Given the description of an element on the screen output the (x, y) to click on. 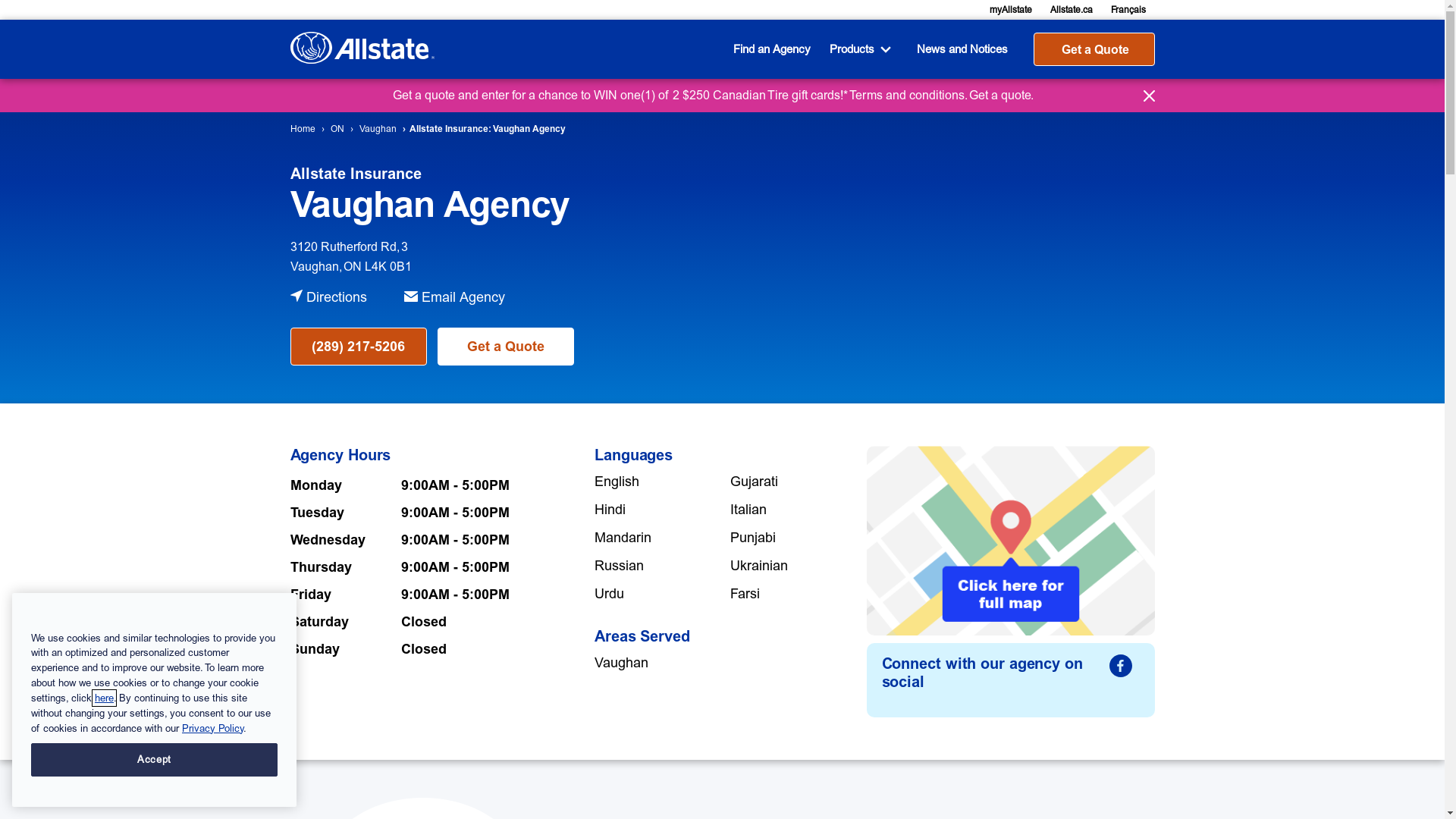
Privacy Policy Element type: text (212, 727)
News and Notices Element type: text (965, 49)
Home Element type: text (301, 128)
Find an Agency Element type: text (774, 49)
Email Agency Element type: text (470, 297)
Get a Quote Element type: text (504, 346)
Directions Element type: text (346, 297)
Accept Element type: text (154, 759)
Vaughan Element type: text (377, 128)
Allstate.ca Element type: text (1070, 9)
Terms and conditions. Element type: text (907, 94)
myAllstate Element type: text (1009, 9)
(289) 217-5206 Element type: text (357, 346)
Get a quote. Element type: text (999, 94)
here Element type: text (103, 697)
Skip to Content
Enter Element type: text (410, 49)
Get a Quote Element type: text (1093, 48)
ON Element type: text (337, 128)
Products Element type: text (864, 49)
